Given the description of an element on the screen output the (x, y) to click on. 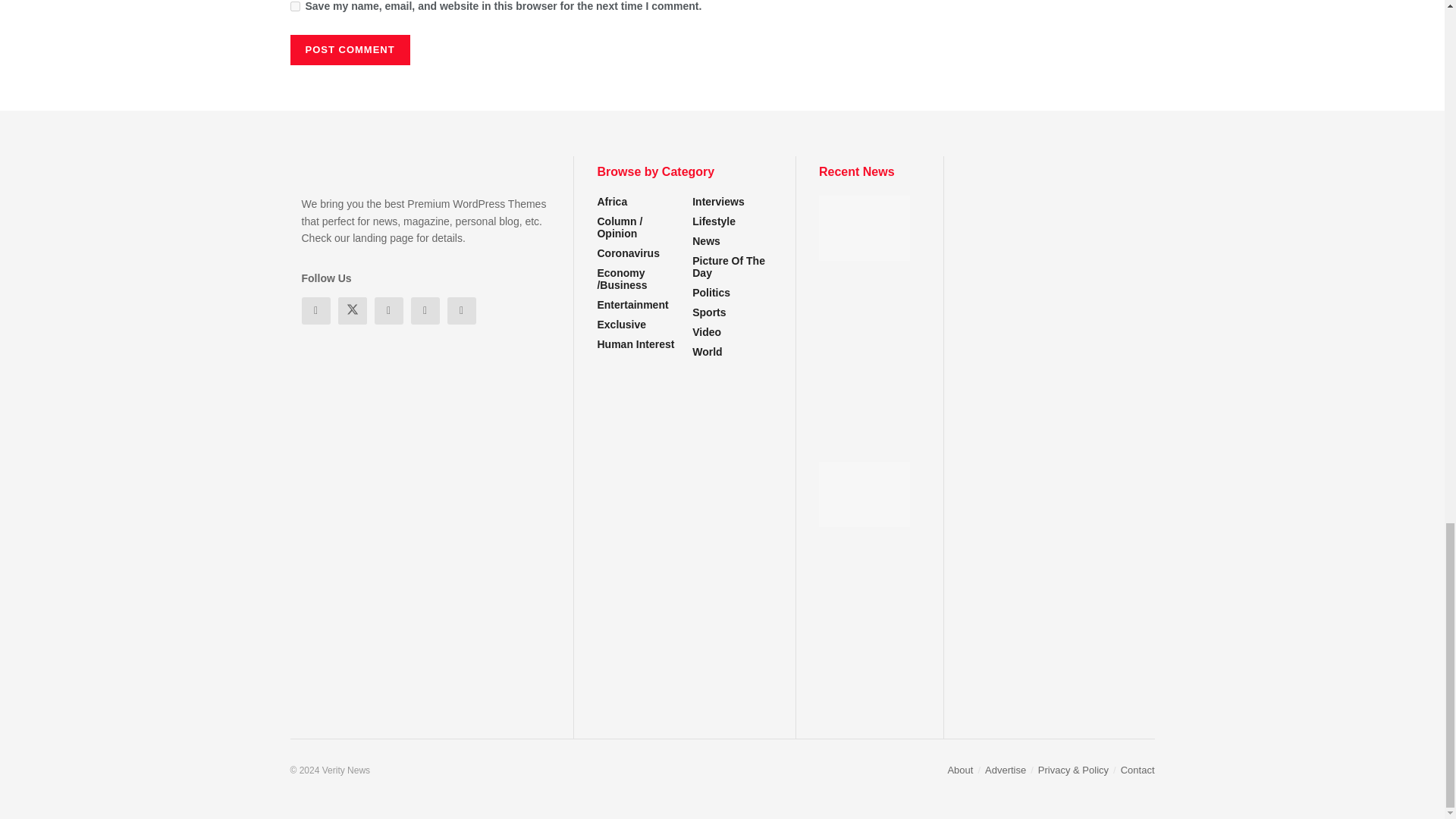
yes (294, 6)
Post Comment (349, 50)
